Given the description of an element on the screen output the (x, y) to click on. 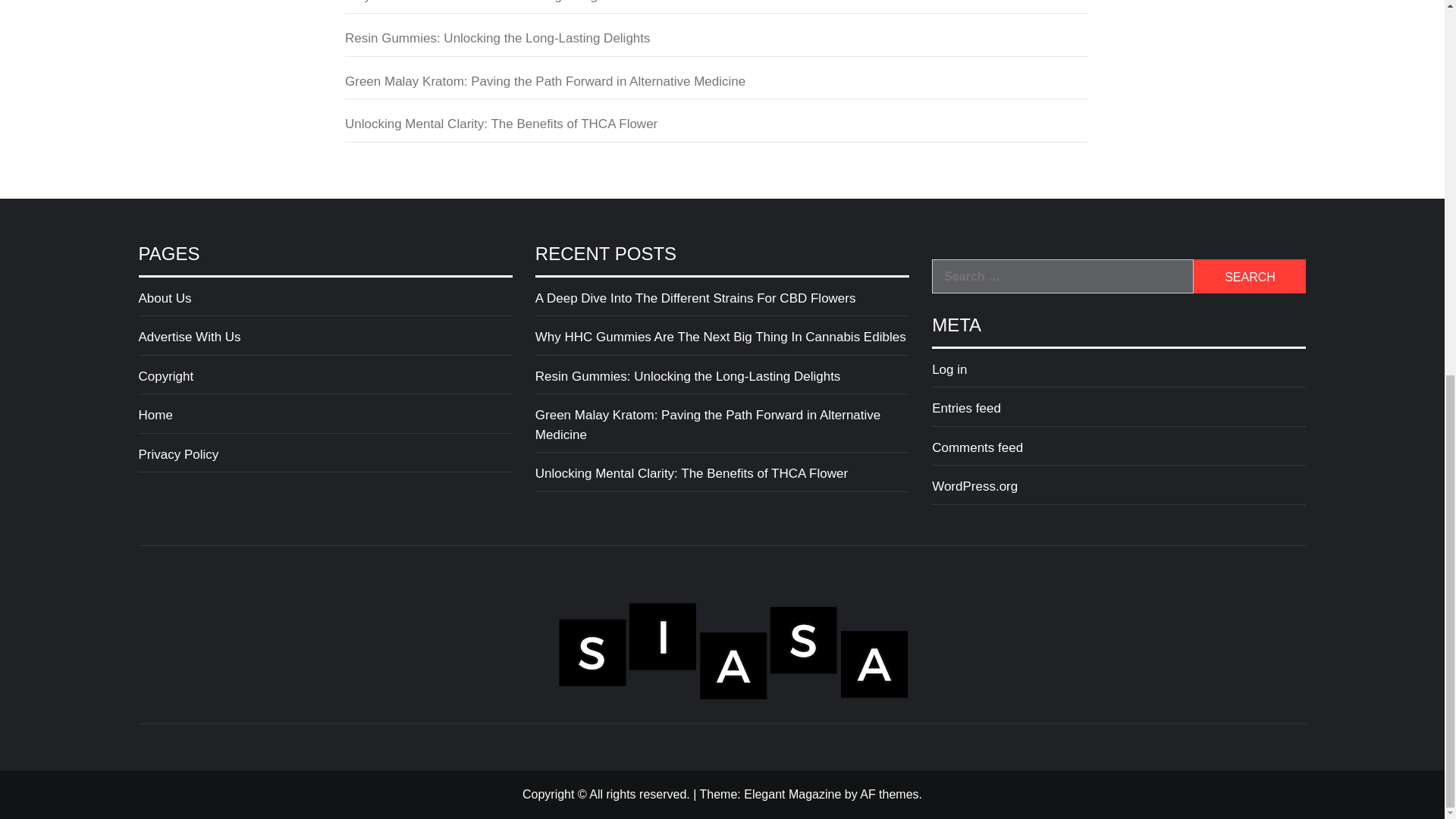
Unlocking Mental Clarity: The Benefits of THCA Flower (716, 128)
Advertise With Us (325, 341)
Elegant Magazine (792, 793)
Entries feed (1118, 412)
Search (1249, 276)
Resin Gummies: Unlocking the Long-Lasting Delights (721, 380)
Why HHC Gummies Are The Next Big Thing In Cannabis Edibles (716, 7)
Log in (1118, 374)
Resin Gummies: Unlocking the Long-Lasting Delights (716, 42)
